Given the description of an element on the screen output the (x, y) to click on. 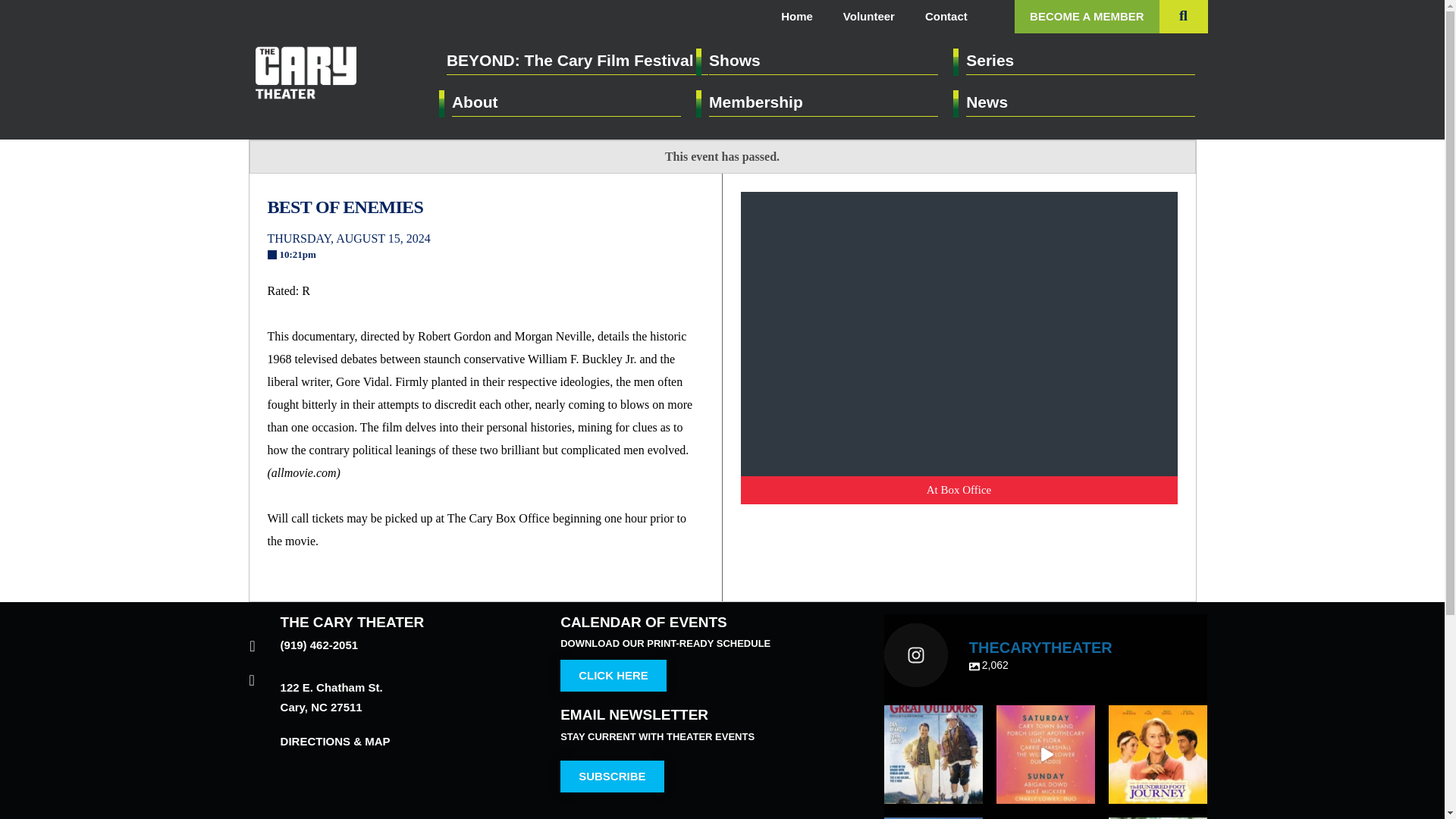
Best of Enemies (957, 333)
Contact (946, 16)
Best of Enemies (484, 207)
Volunteer (869, 16)
At Box Office (957, 489)
Home (796, 16)
